Given the description of an element on the screen output the (x, y) to click on. 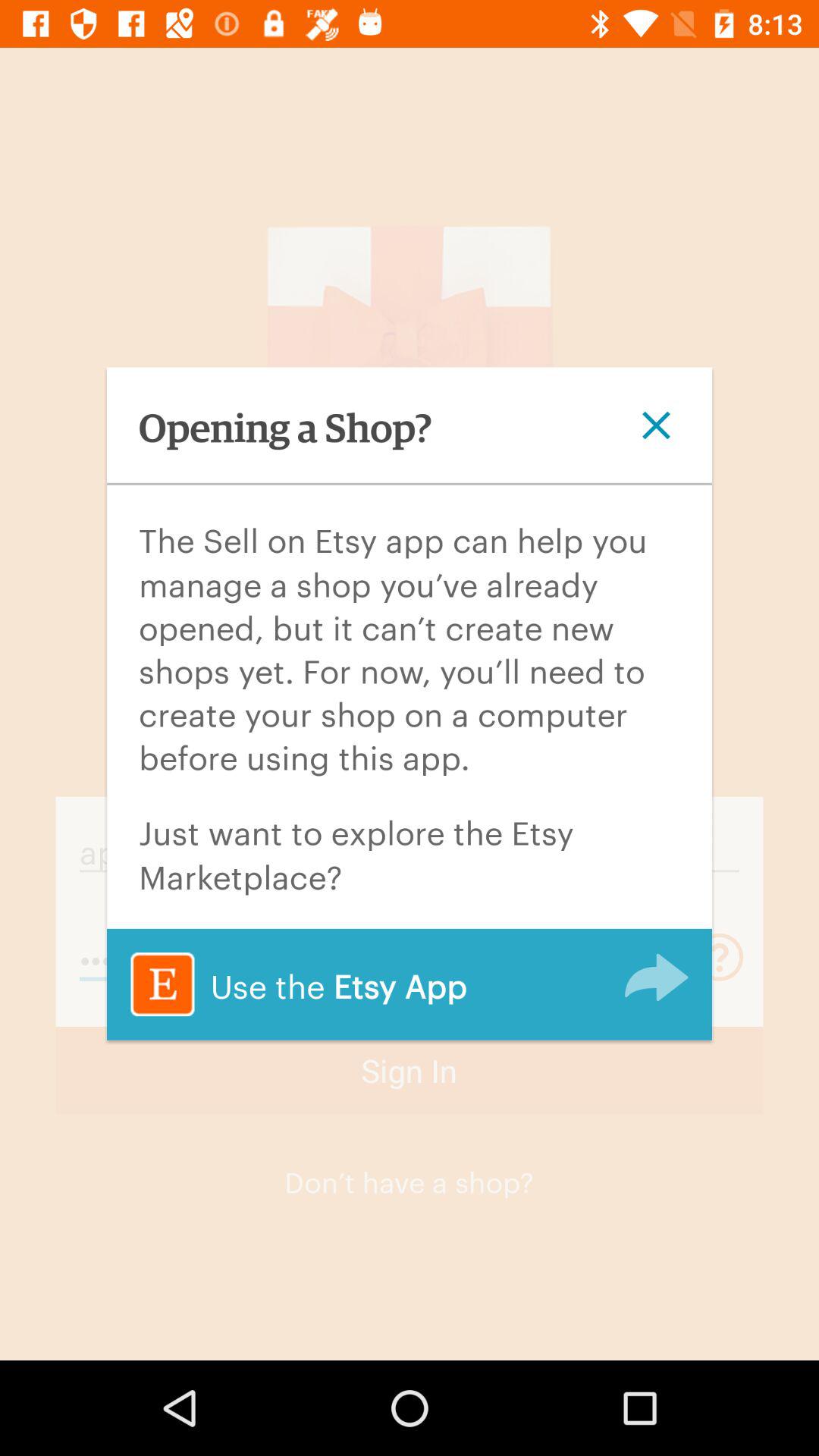
turn on icon next to the opening a shop? (656, 424)
